Given the description of an element on the screen output the (x, y) to click on. 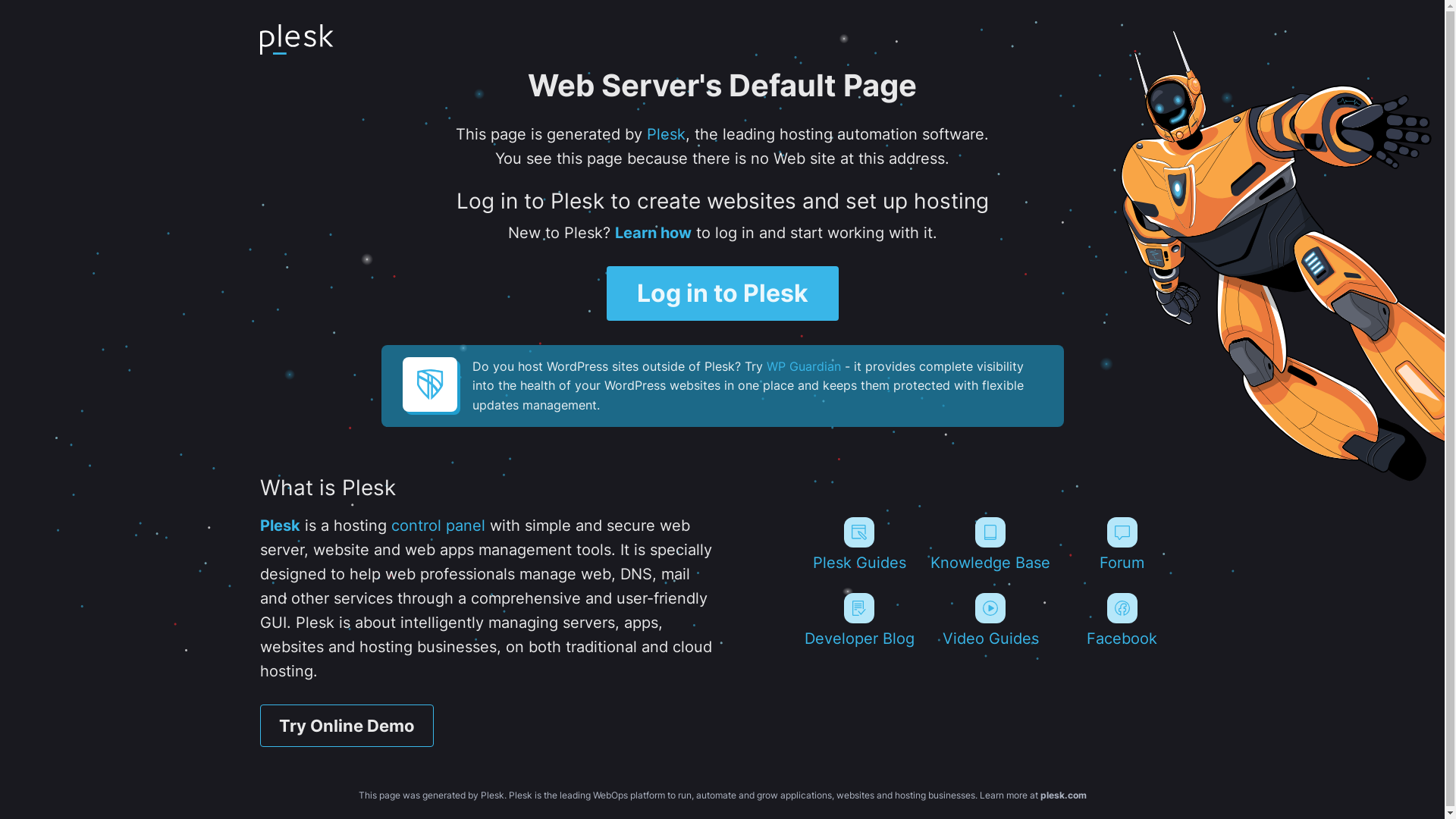
Log in to Plesk Element type: text (722, 293)
Knowledge Base Element type: text (990, 544)
Video Guides Element type: text (990, 620)
Developer Blog Element type: text (858, 620)
Forum Element type: text (1121, 544)
Plesk Element type: text (665, 134)
plesk.com Element type: text (1063, 794)
Plesk Element type: text (279, 525)
WP Guardian Element type: text (802, 365)
Try Online Demo Element type: text (346, 725)
Learn how Element type: text (652, 232)
Facebook Element type: text (1121, 620)
control panel Element type: text (438, 525)
Plesk Guides Element type: text (858, 544)
